Given the description of an element on the screen output the (x, y) to click on. 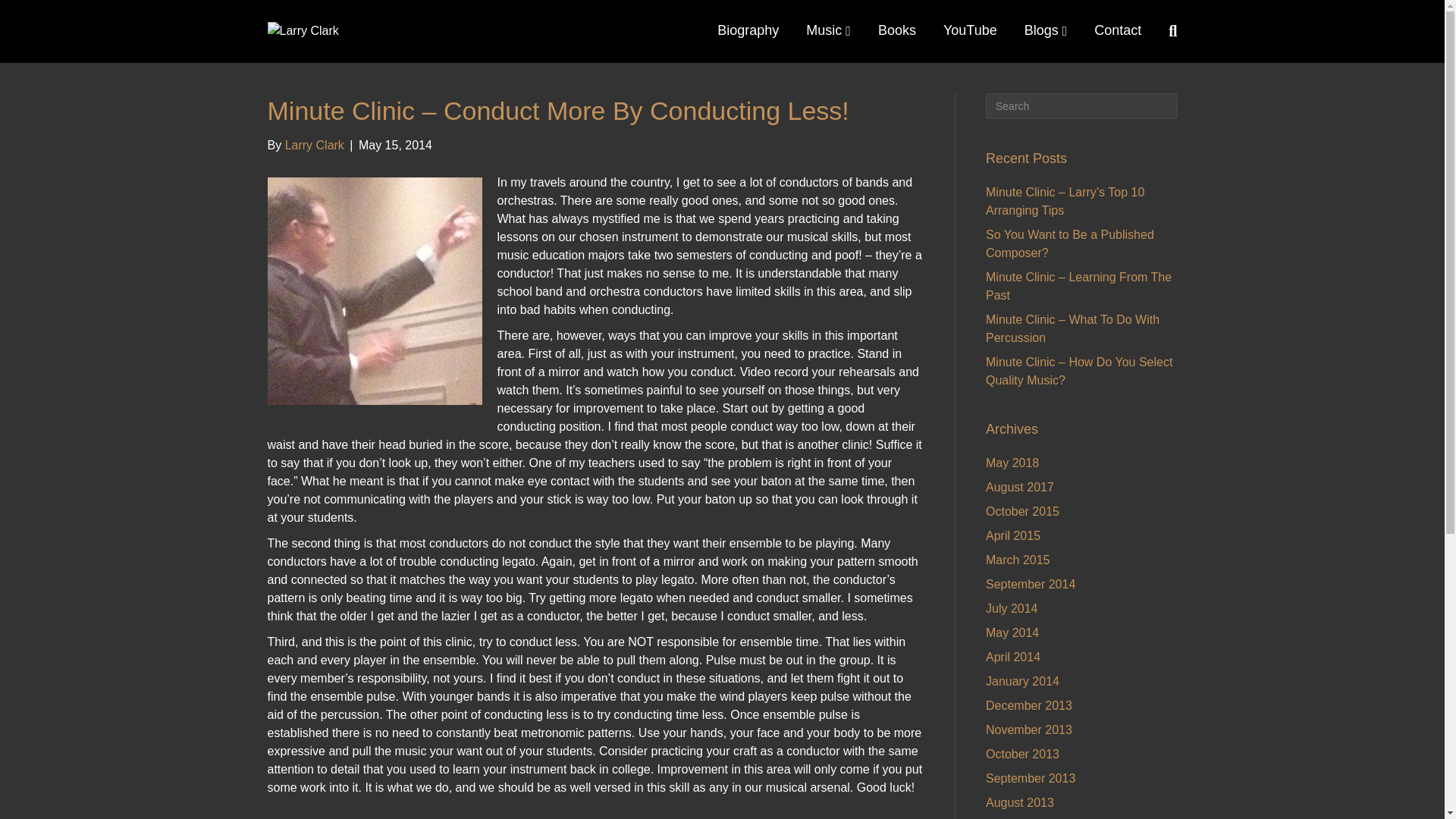
Biography (747, 30)
Type and press Enter to search. (1081, 105)
Books (897, 30)
Music (828, 30)
Blogs (1045, 30)
YouTube (970, 30)
Contact (1117, 30)
Larry Clark (314, 144)
So You Want to Be a Published Composer? (1069, 243)
